Given the description of an element on the screen output the (x, y) to click on. 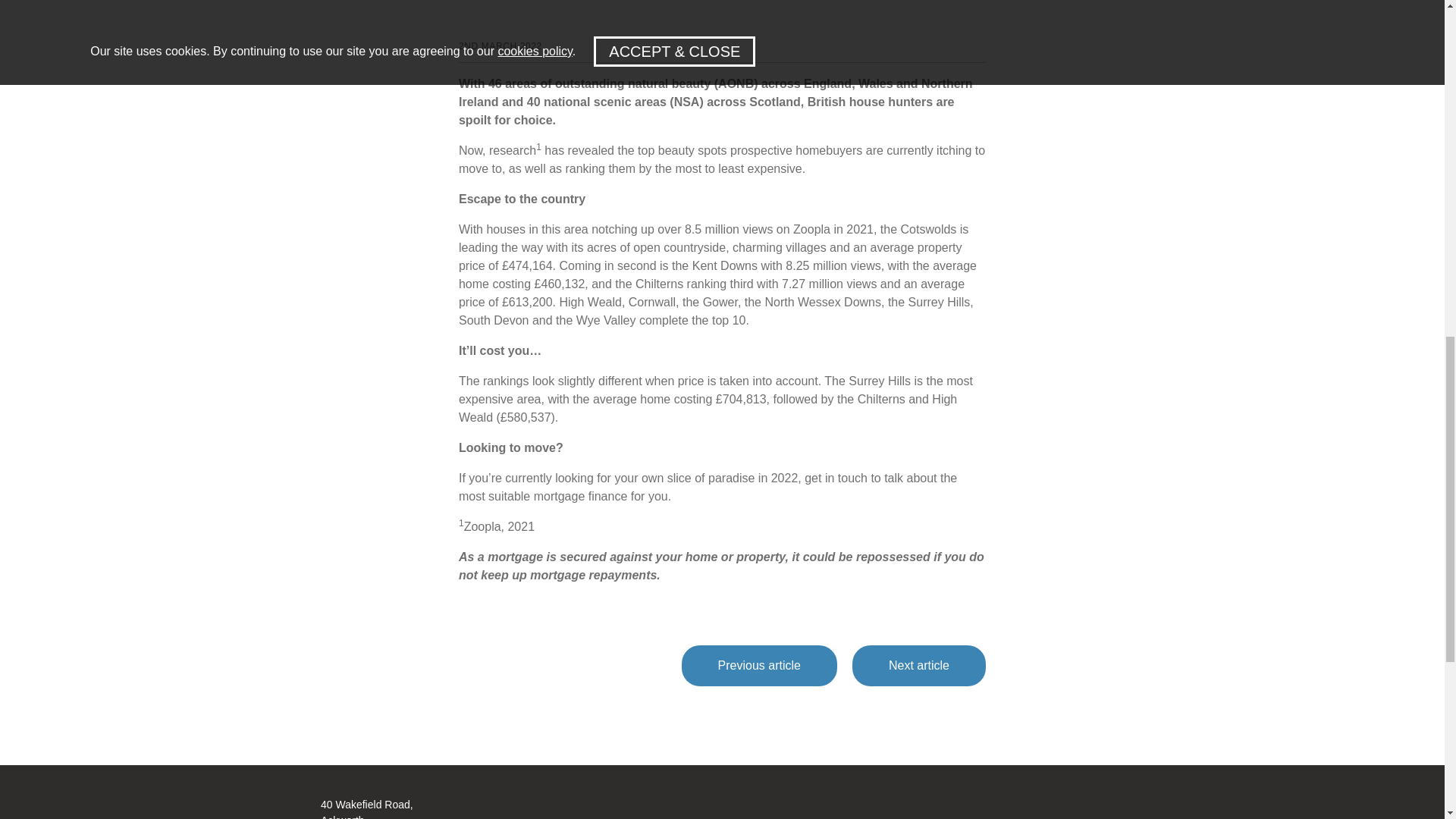
Previous article (759, 665)
Next article (918, 665)
